Given the description of an element on the screen output the (x, y) to click on. 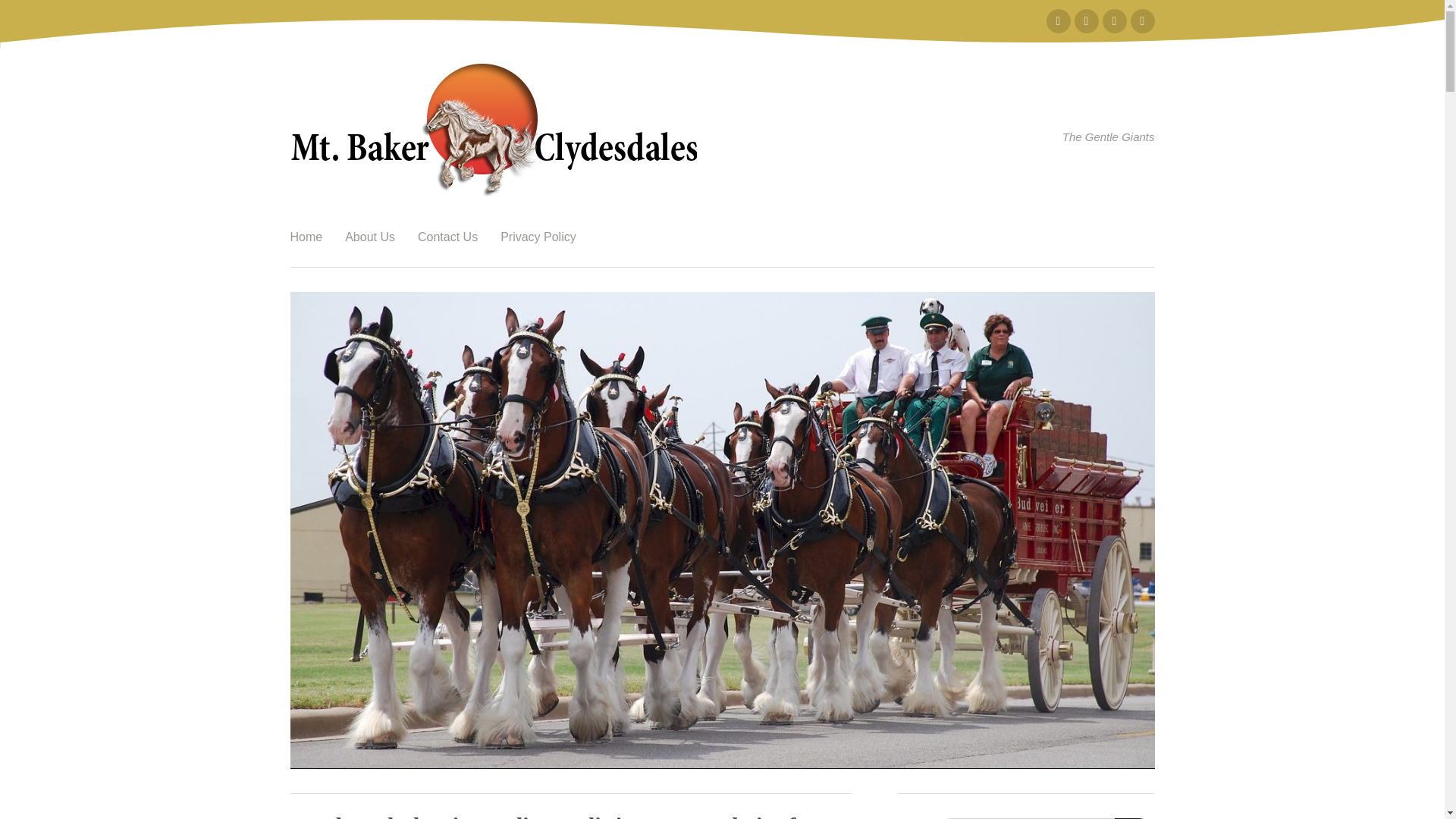
About Us (369, 237)
YouTube (1141, 21)
Twitter (1085, 21)
Instagram (1114, 21)
Privacy Policy (538, 237)
Contact Us (447, 237)
Home (306, 237)
Facebook (1058, 21)
